Given the description of an element on the screen output the (x, y) to click on. 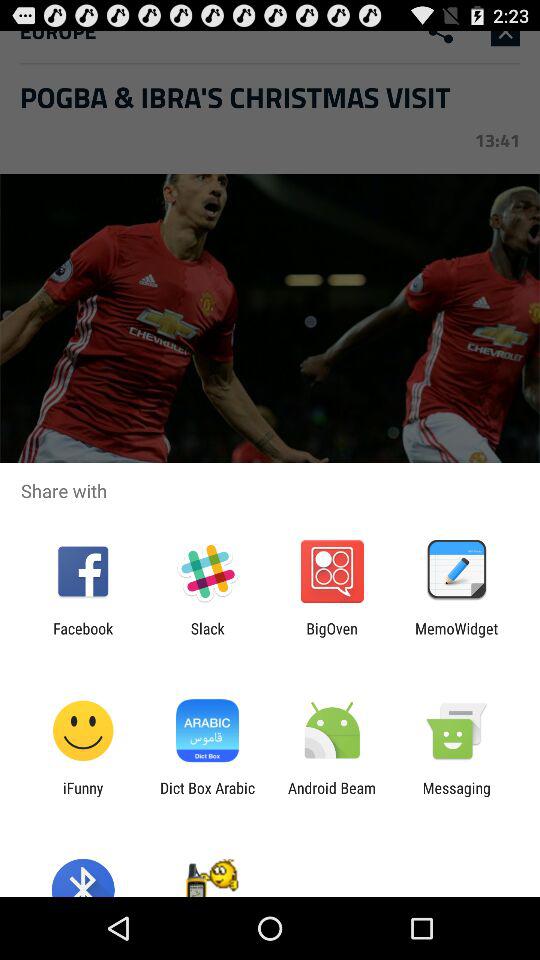
click item to the left of the memowidget item (331, 637)
